Given the description of an element on the screen output the (x, y) to click on. 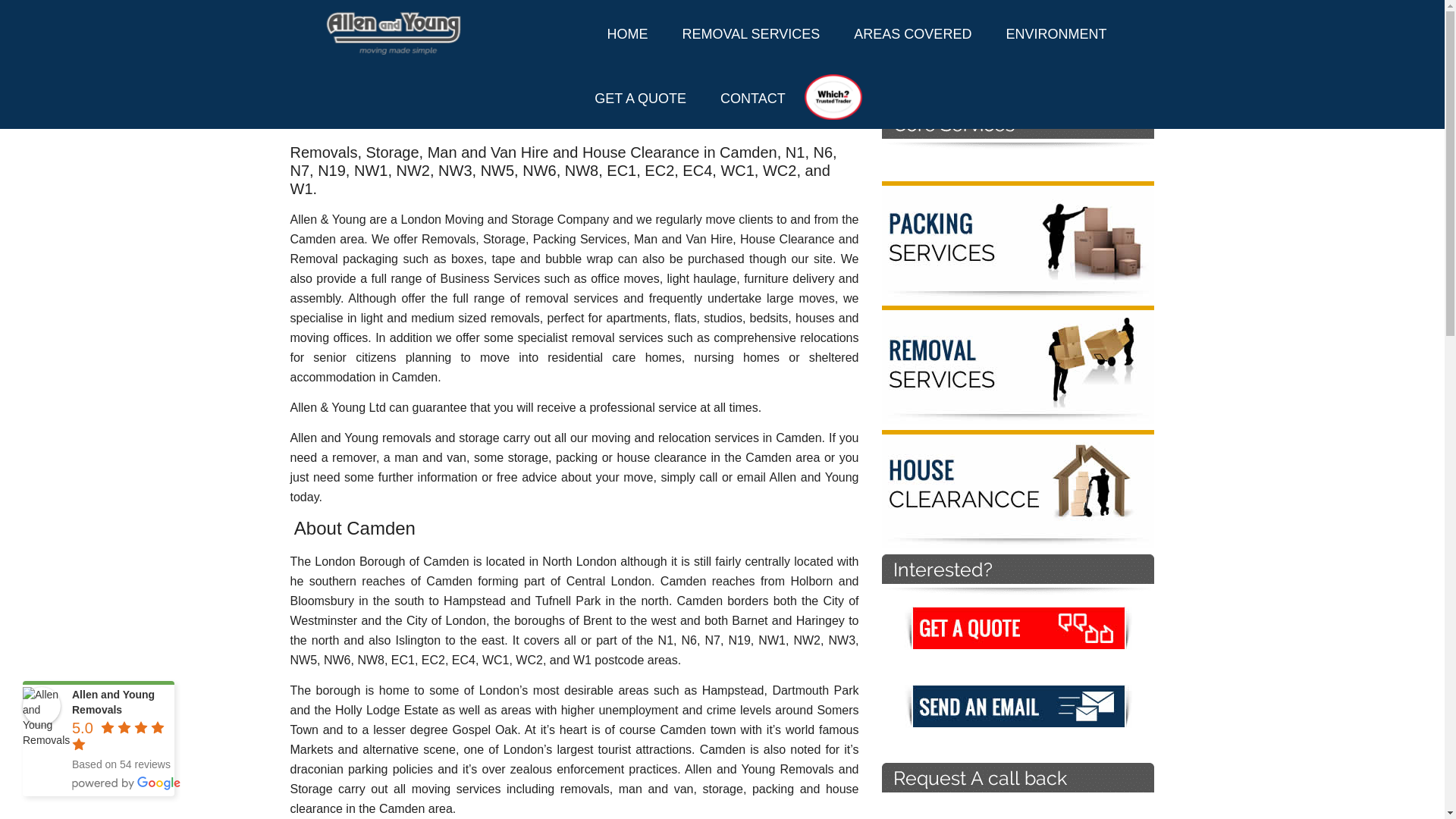
powered by Google (125, 783)
AREAS COVERED (912, 33)
Allen and Young Removals (42, 705)
REMOVAL SERVICES (750, 33)
CONTACT (752, 98)
HOME (627, 33)
GET A QUOTE (640, 98)
ENVIRONMENT (1055, 33)
